Given the description of an element on the screen output the (x, y) to click on. 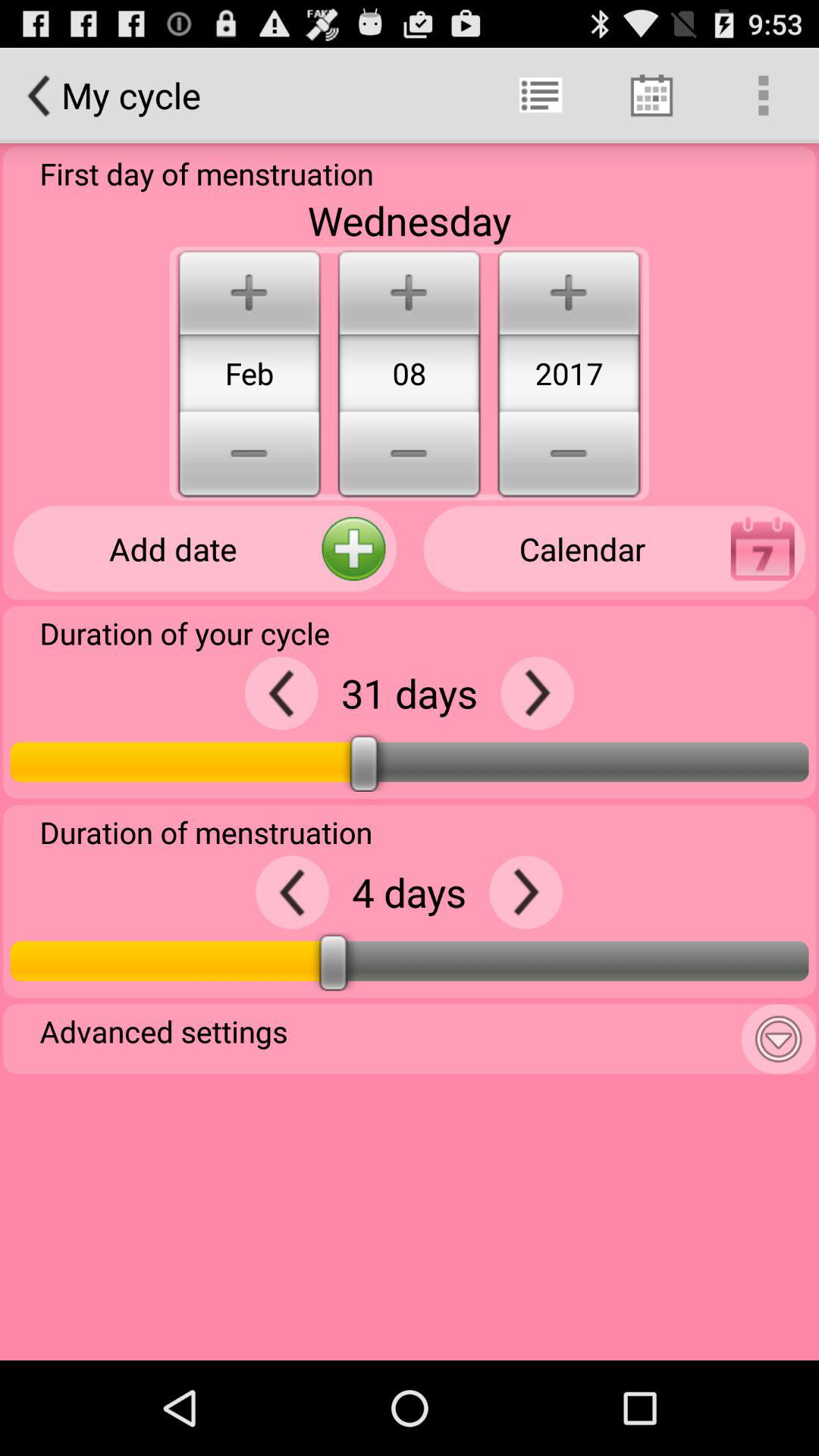
reduce number of days (292, 892)
